Given the description of an element on the screen output the (x, y) to click on. 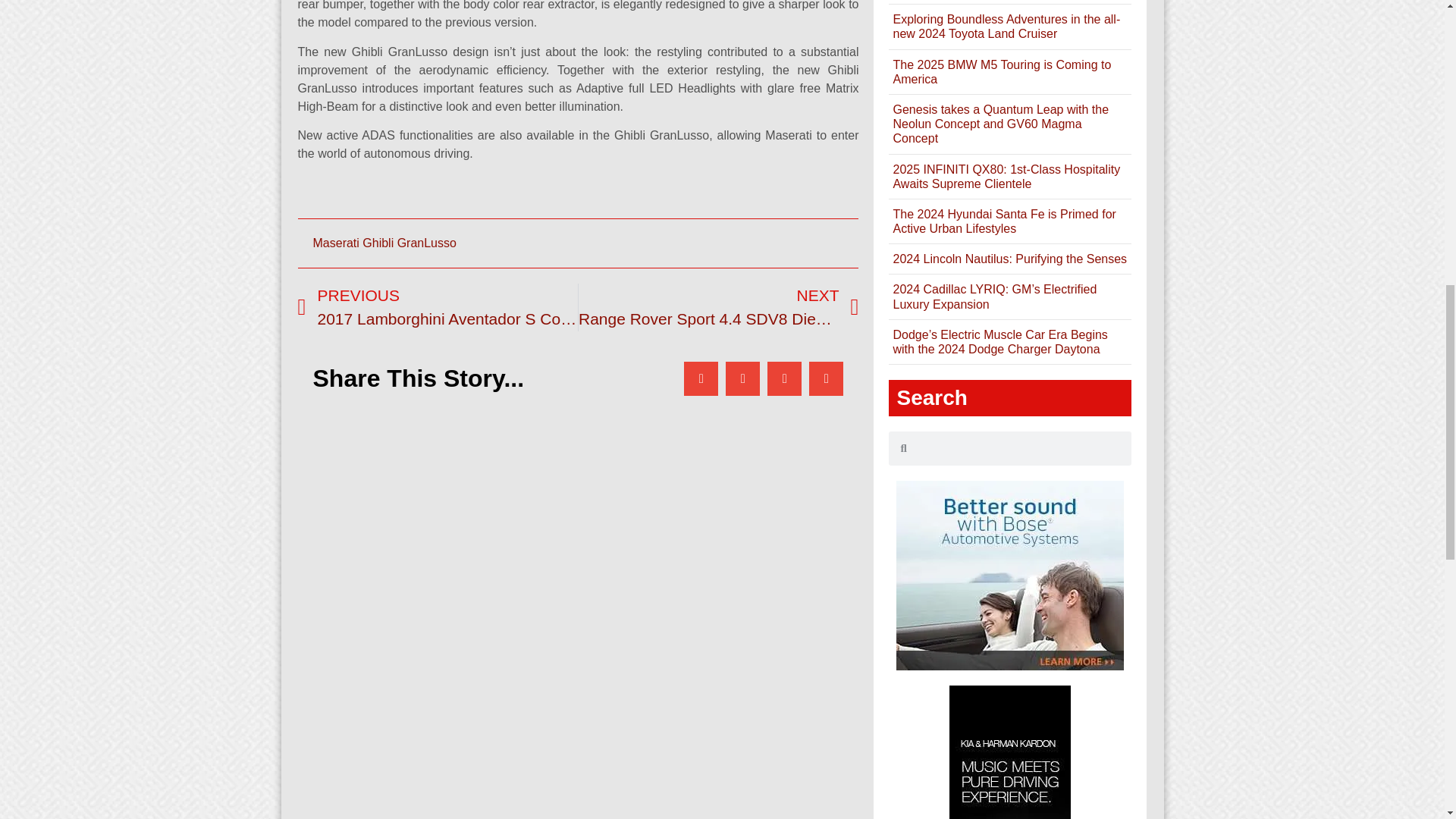
The 2025 BMW M5 Touring is Coming to America (1001, 71)
Maserati Ghibli GranLusso (384, 242)
